Given the description of an element on the screen output the (x, y) to click on. 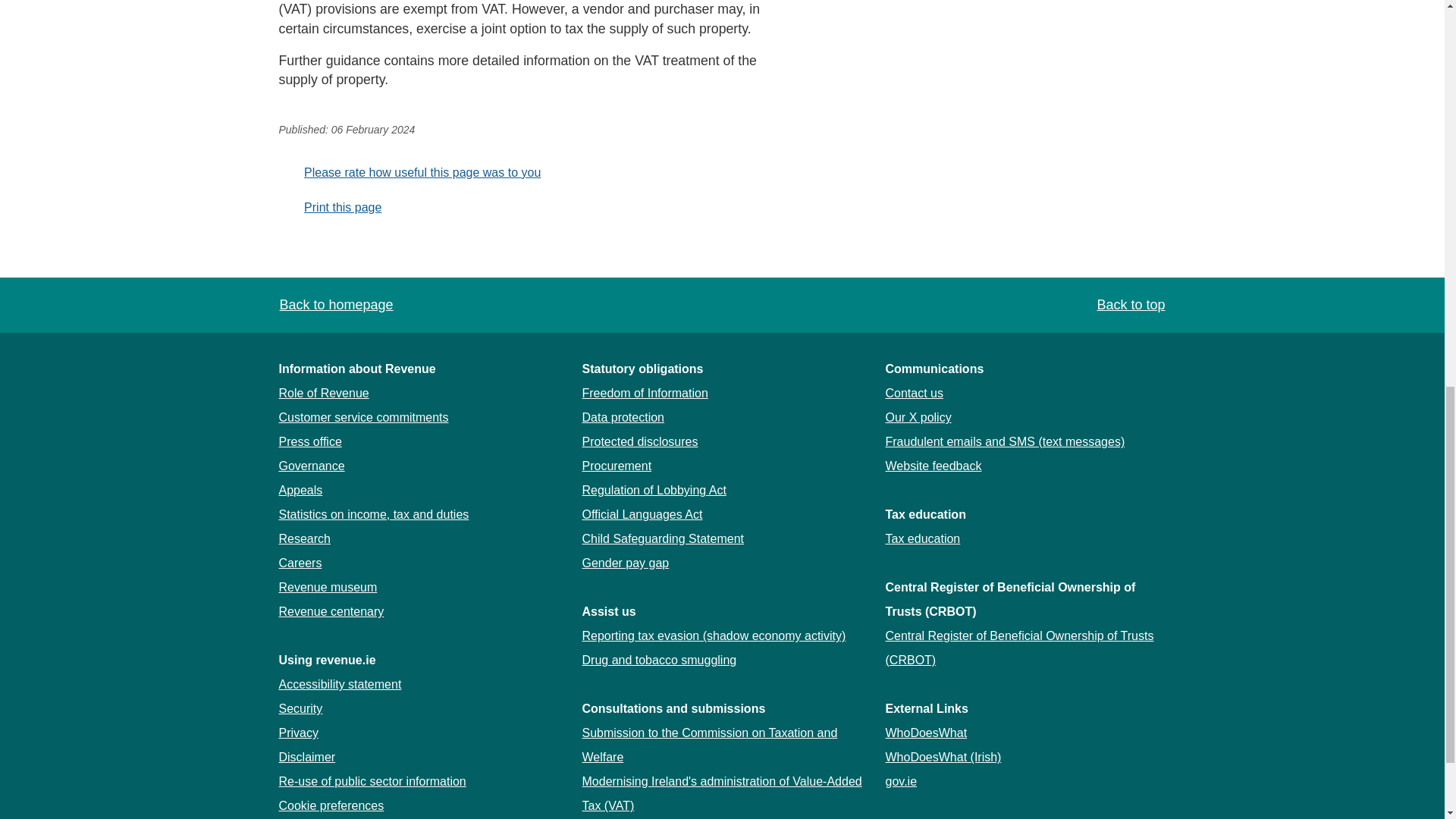
Press office (310, 440)
Revenue museum (328, 586)
Please rate how useful this page was to you (410, 172)
Research (304, 538)
Back to homepage (336, 304)
Customer service commitments (363, 417)
Revenue centenary (331, 611)
Role of Revenue (324, 392)
Role of Revenue (324, 392)
Statistics on income, tax and duties (373, 513)
Appeals (301, 490)
Customer service commitments (363, 417)
Statistics on income, tax and duties (373, 513)
Security (301, 707)
Back to top (1129, 304)
